Given the description of an element on the screen output the (x, y) to click on. 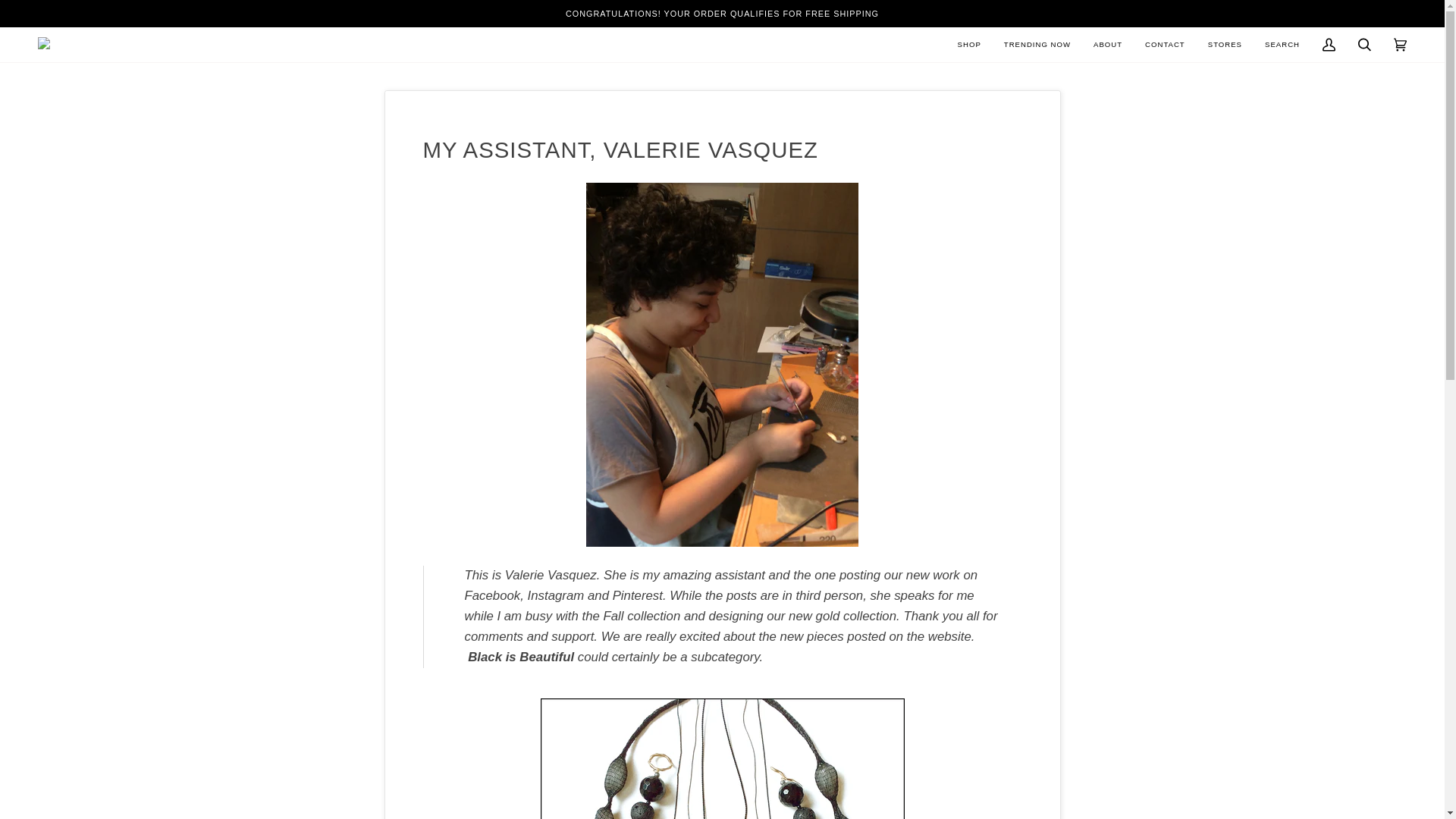
CONTACT (1165, 44)
TRENDING NOW (1036, 44)
ABOUT (1107, 44)
SEARCH (1282, 44)
SHOP (969, 44)
STORES (1224, 44)
MY ACCOUNT (1328, 44)
SEARCH (1363, 44)
